Given the description of an element on the screen output the (x, y) to click on. 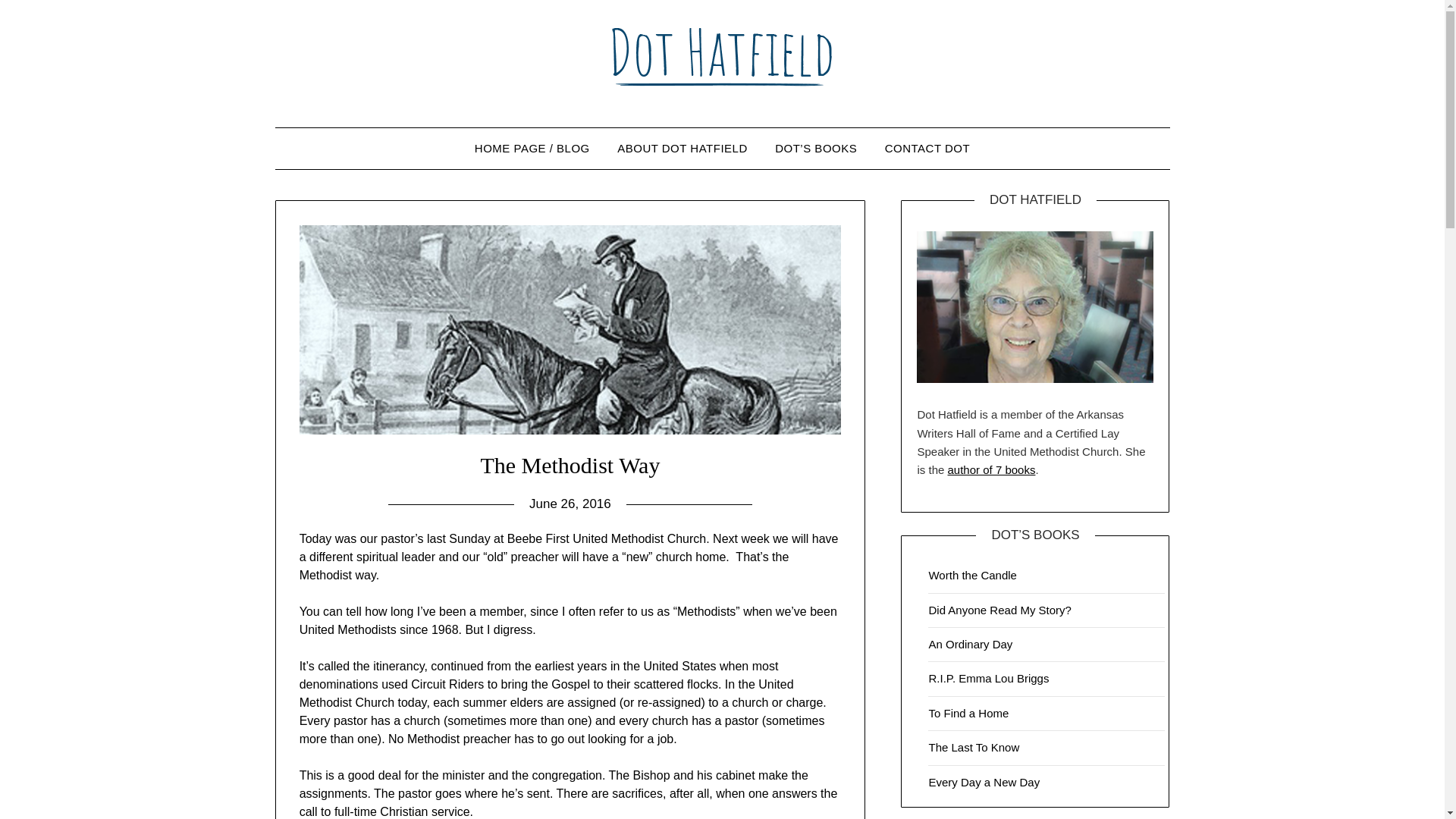
ABOUT DOT HATFIELD (682, 147)
Every Day a New Day (983, 781)
June 26, 2016 (570, 503)
An Ordinary Day (969, 644)
author of 7 books (991, 469)
To Find a Home (968, 712)
R.I.P. Emma Lou Briggs (988, 677)
Worth the Candle (972, 574)
CONTACT DOT (926, 147)
The Last To Know (973, 747)
Did Anyone Read My Story? (999, 609)
